Given the description of an element on the screen output the (x, y) to click on. 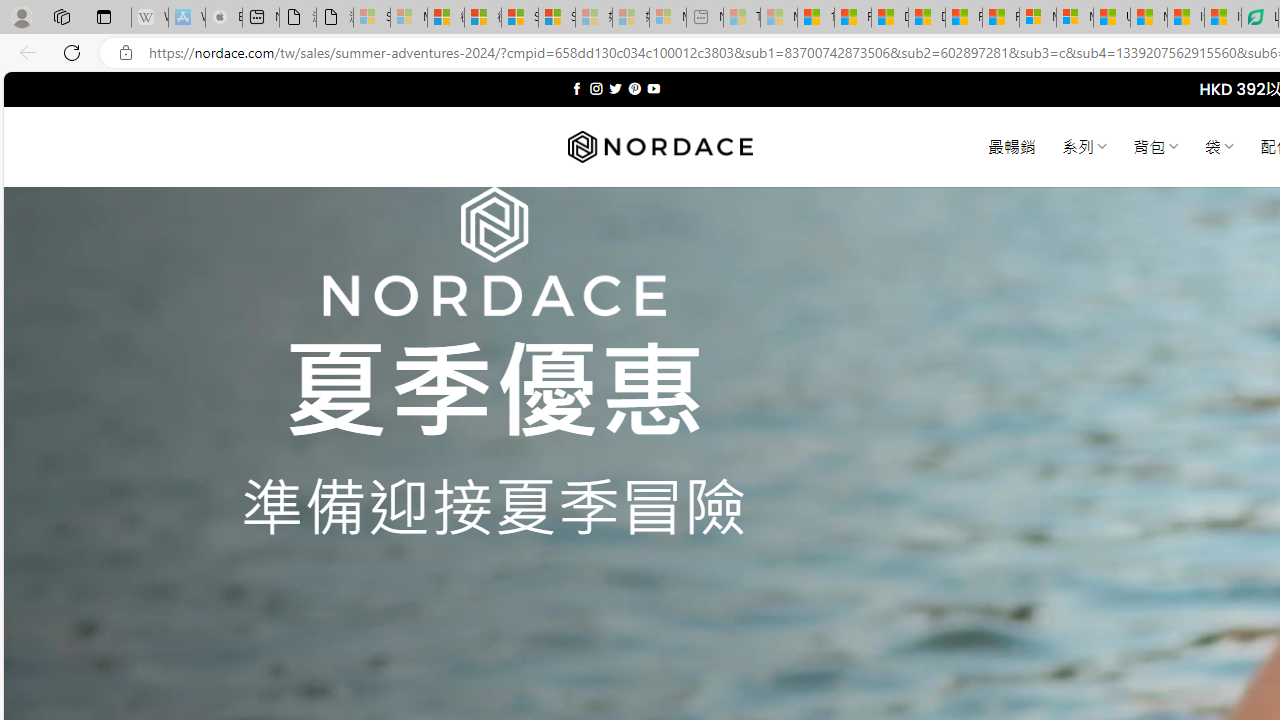
Nordace (659, 147)
Microsoft account | Account Checkup - Sleeping (668, 17)
Foo BAR | Trusted Community Engagement and Contributions (1000, 17)
Nordace (659, 147)
New tab - Sleeping (705, 17)
Drinking tea every day is proven to delay biological aging (926, 17)
